Given the description of an element on the screen output the (x, y) to click on. 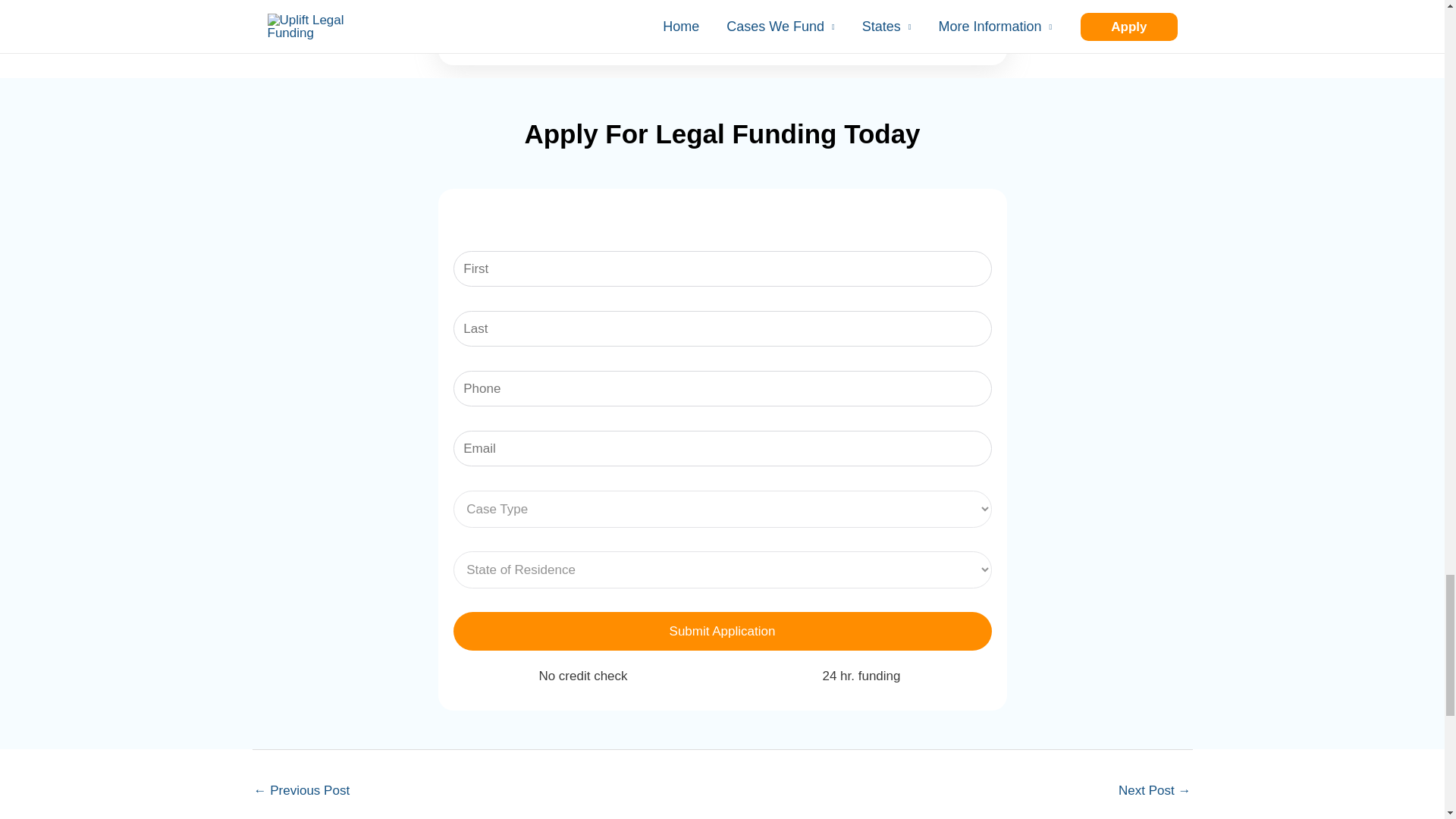
Can You Get a Loan on a Class Action Lawsuit? (1154, 792)
Can I Get a Same-Day Settlement Loan? (301, 792)
Submit Application (721, 630)
